Given the description of an element on the screen output the (x, y) to click on. 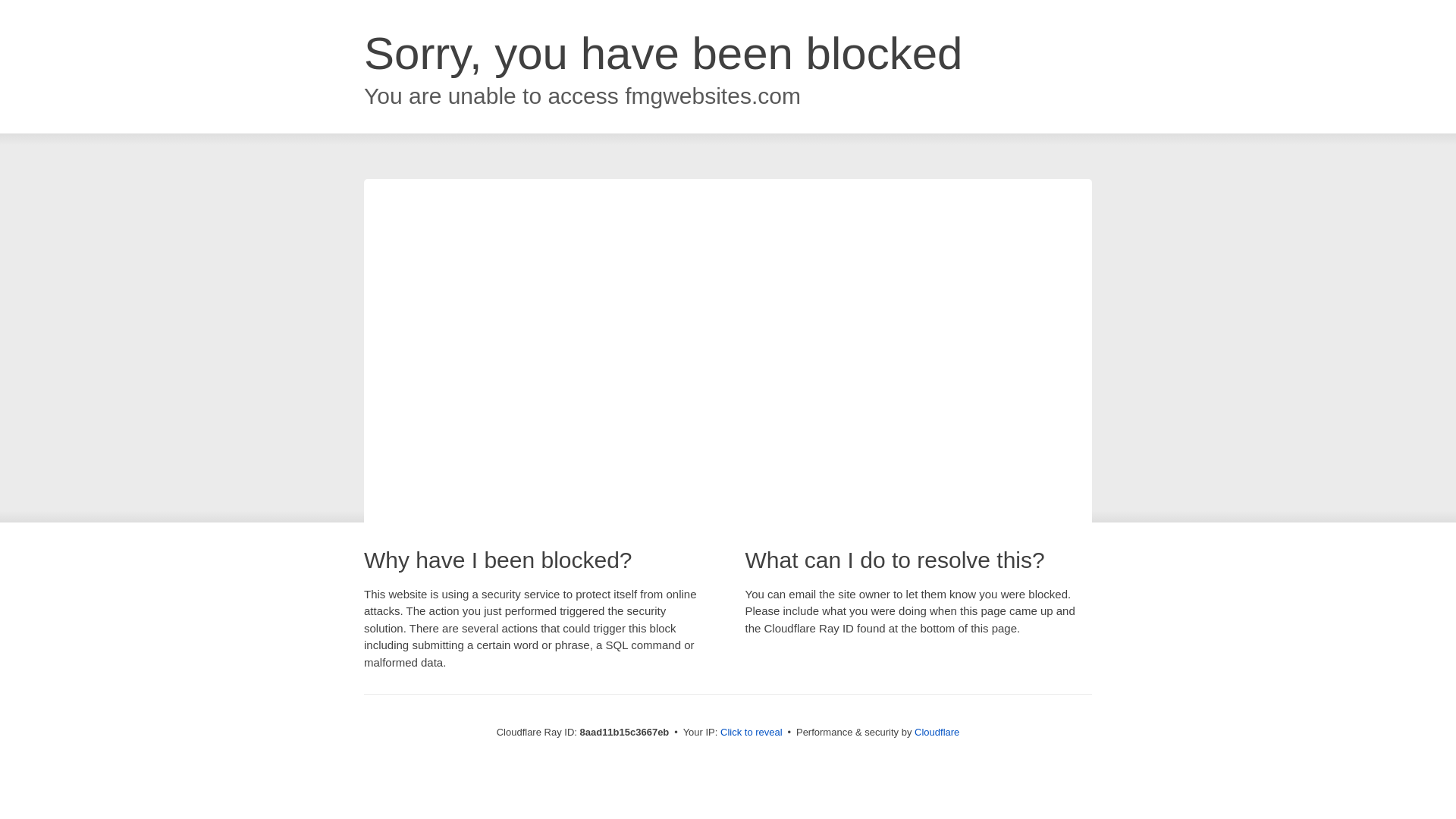
Click to reveal (751, 732)
Cloudflare (936, 731)
